Given the description of an element on the screen output the (x, y) to click on. 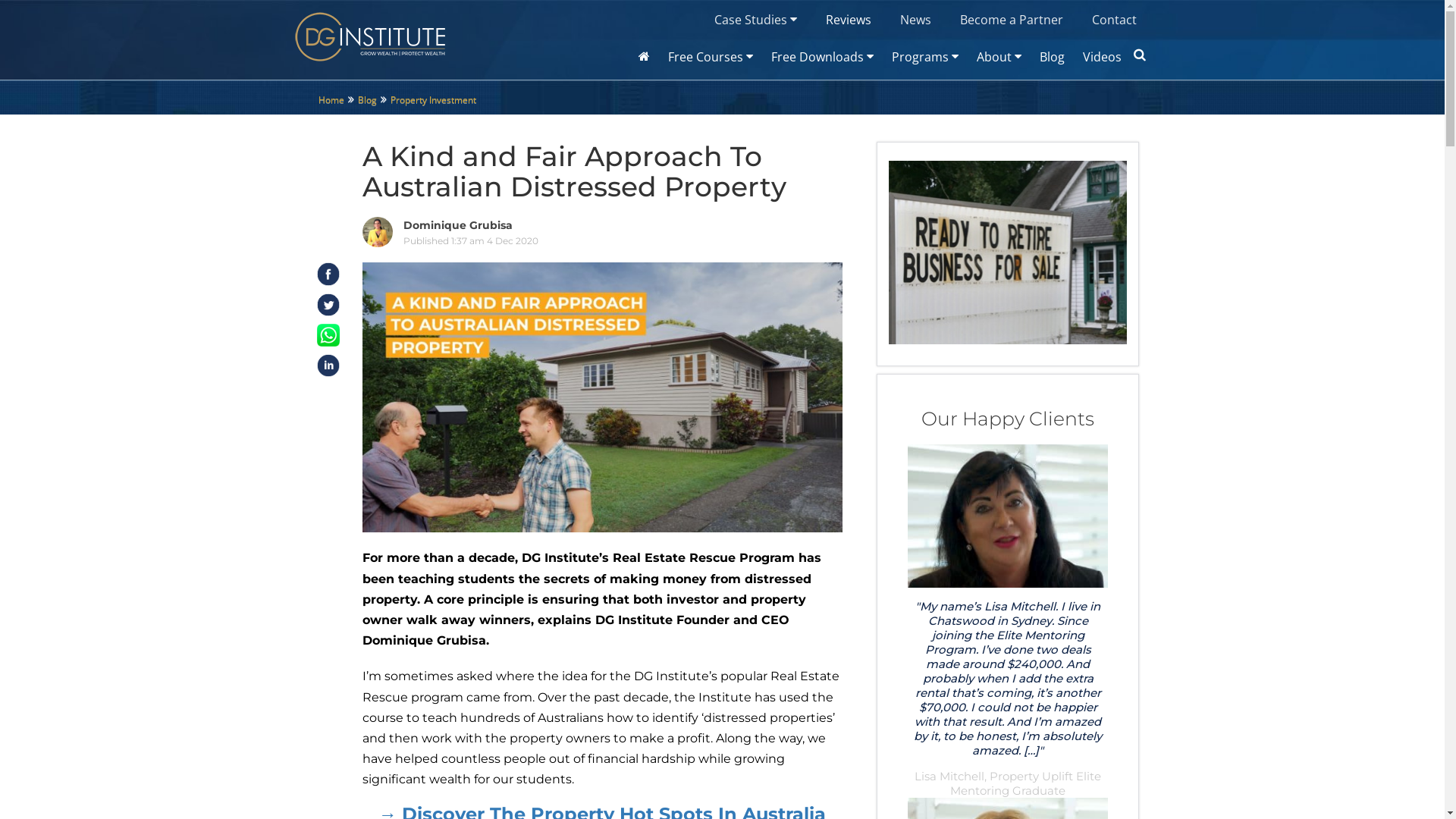
Case Studies Element type: text (754, 19)
Programs Element type: text (924, 56)
Become a Partner Element type: text (1010, 19)
Contact Element type: text (1113, 19)
Home Element type: text (331, 99)
About Element type: text (998, 56)
Linkedin Element type: hover (327, 365)
Facebook Element type: hover (327, 273)
Reviews Element type: text (848, 19)
Free Courses Element type: text (709, 56)
Videos Element type: text (1101, 56)
Blog Element type: text (366, 99)
News Element type: text (915, 19)
Property Investment Element type: text (433, 99)
Free Downloads Element type: text (821, 56)
Twitter Element type: hover (327, 304)
Whatsapp Element type: hover (327, 334)
Dominique Grubisa Element type: text (457, 225)
Blog Element type: text (1051, 56)
